Given the description of an element on the screen output the (x, y) to click on. 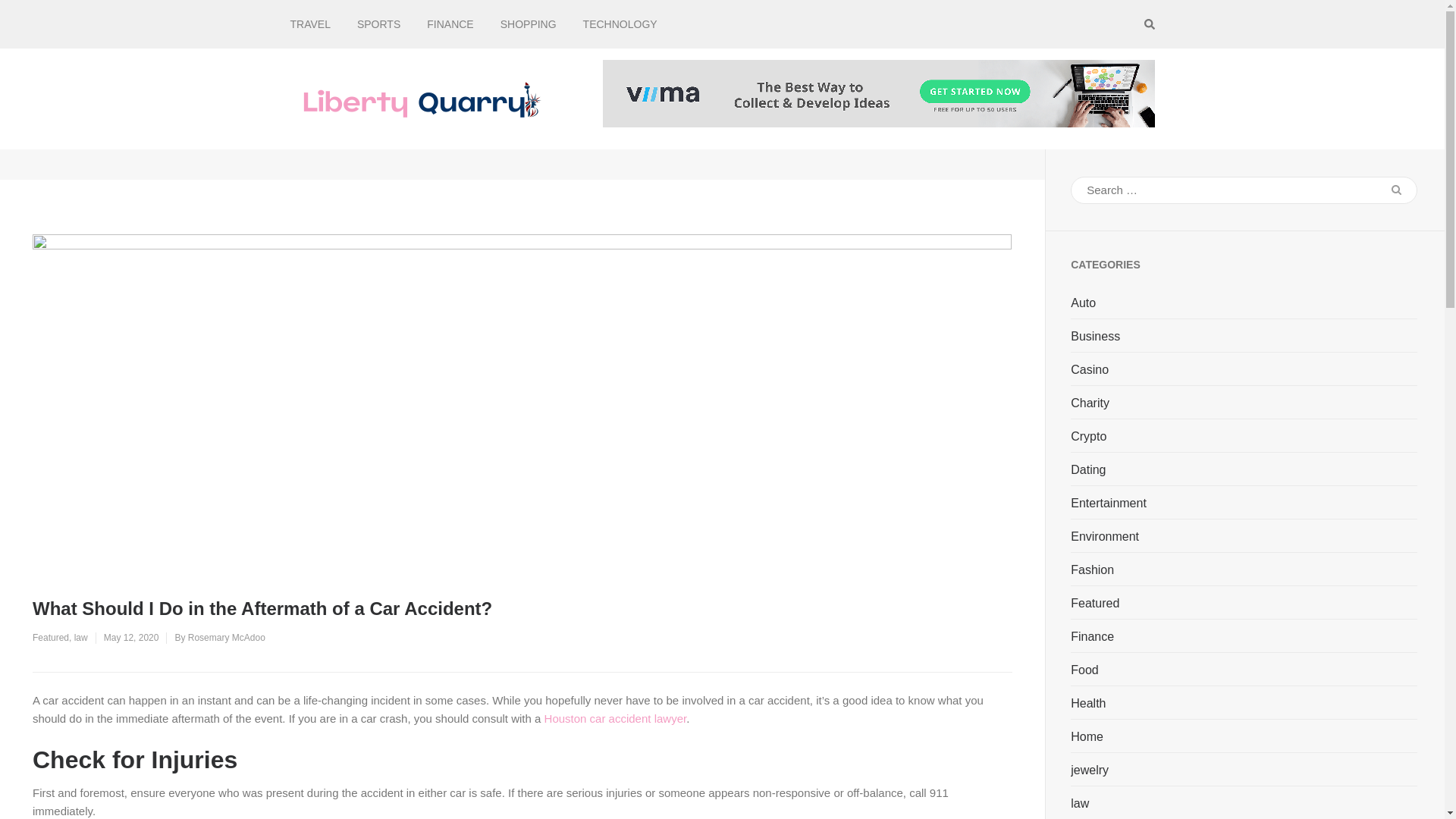
law (80, 637)
Crypto (1088, 436)
Featured (50, 637)
TECHNOLOGY (620, 24)
Rosemary McAdoo (225, 637)
Search (1395, 189)
Charity (1089, 402)
Search (1395, 189)
Home (1086, 736)
Environment (1104, 536)
law (1079, 803)
Fashion (1091, 569)
FINANCE (449, 24)
SHOPPING (528, 24)
Houston car accident lawyer (615, 717)
